Given the description of an element on the screen output the (x, y) to click on. 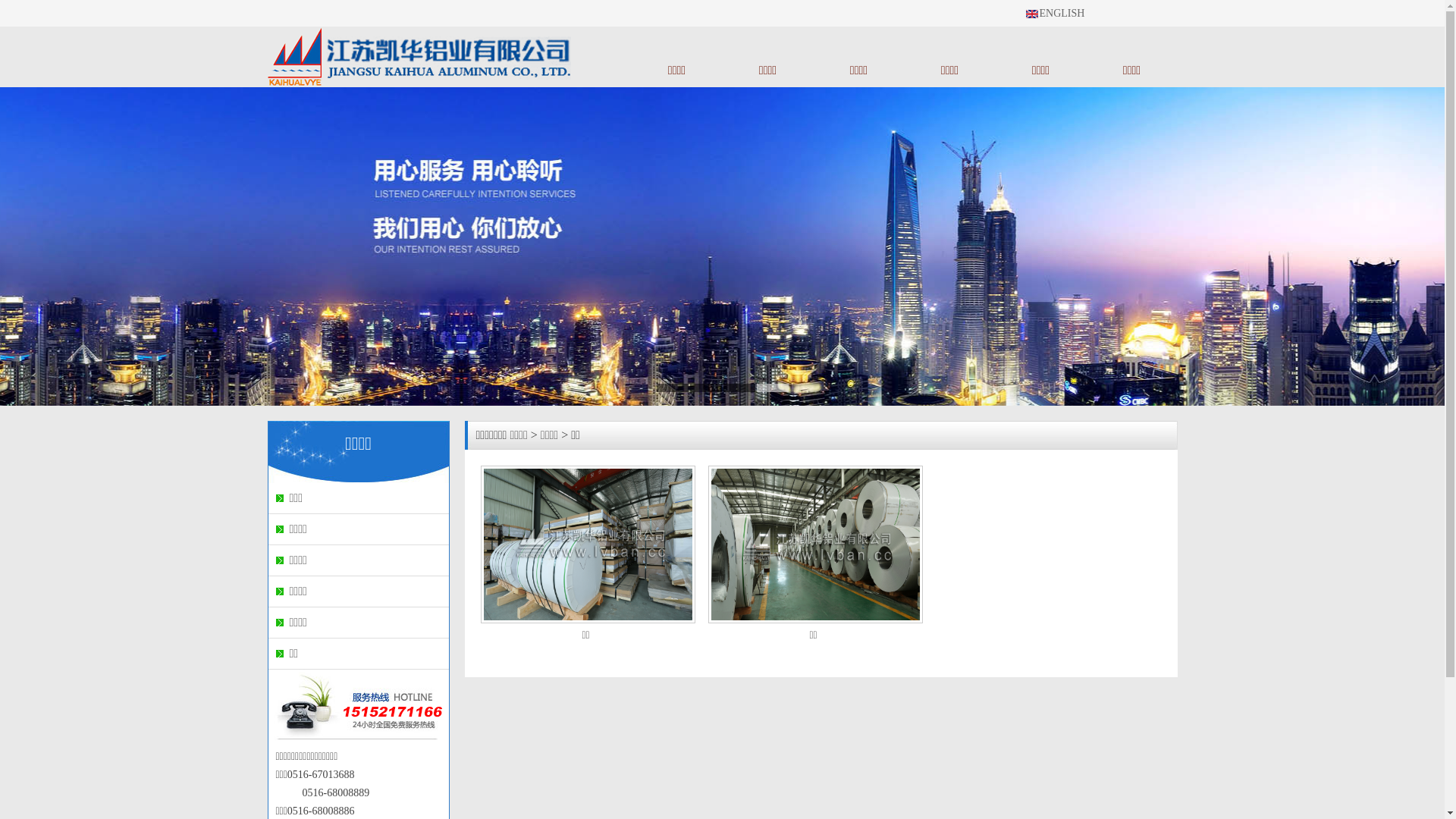
ENGLISH Element type: text (1061, 13)
